Given the description of an element on the screen output the (x, y) to click on. 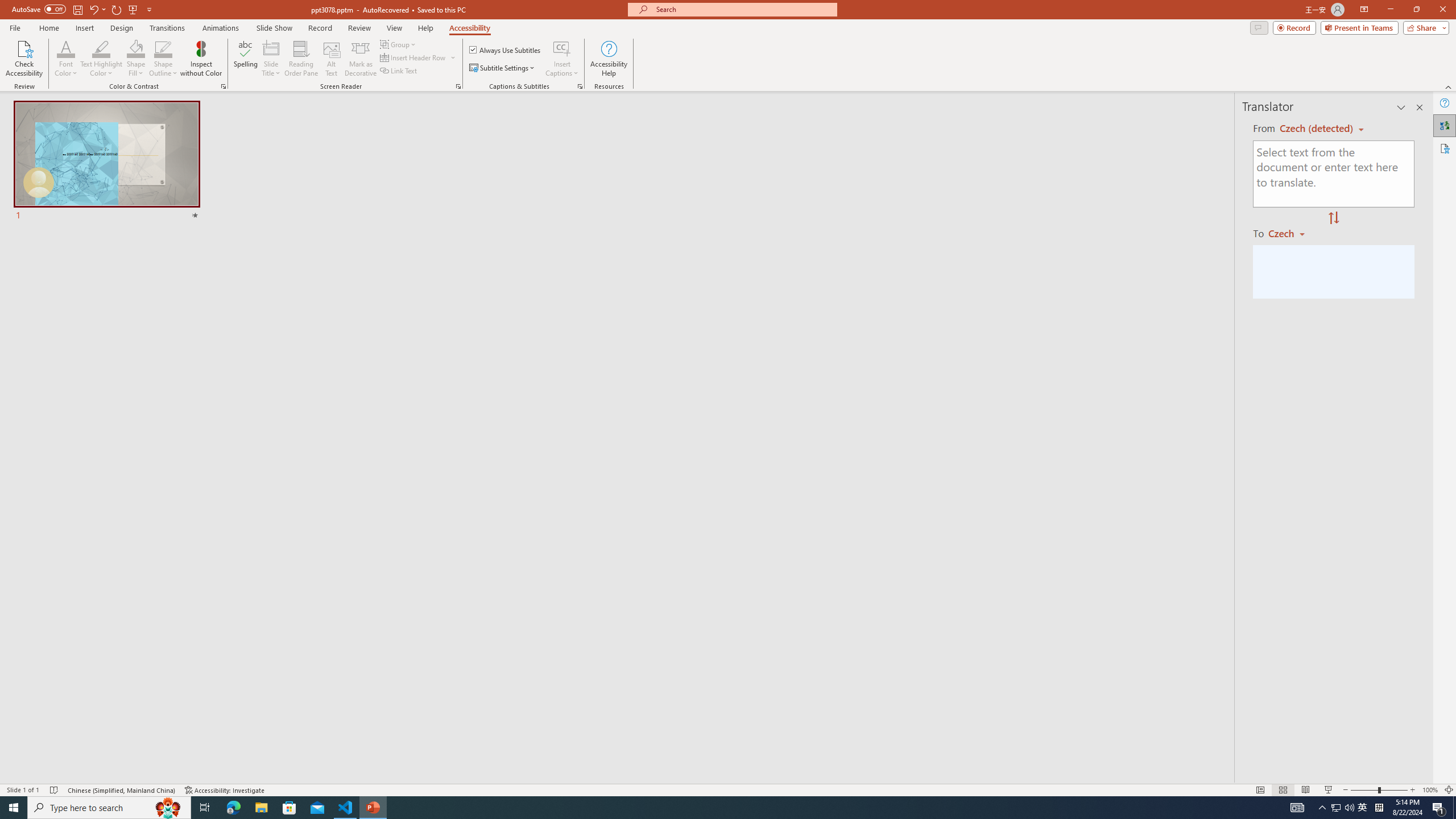
Mark as Decorative (360, 58)
